Given the description of an element on the screen output the (x, y) to click on. 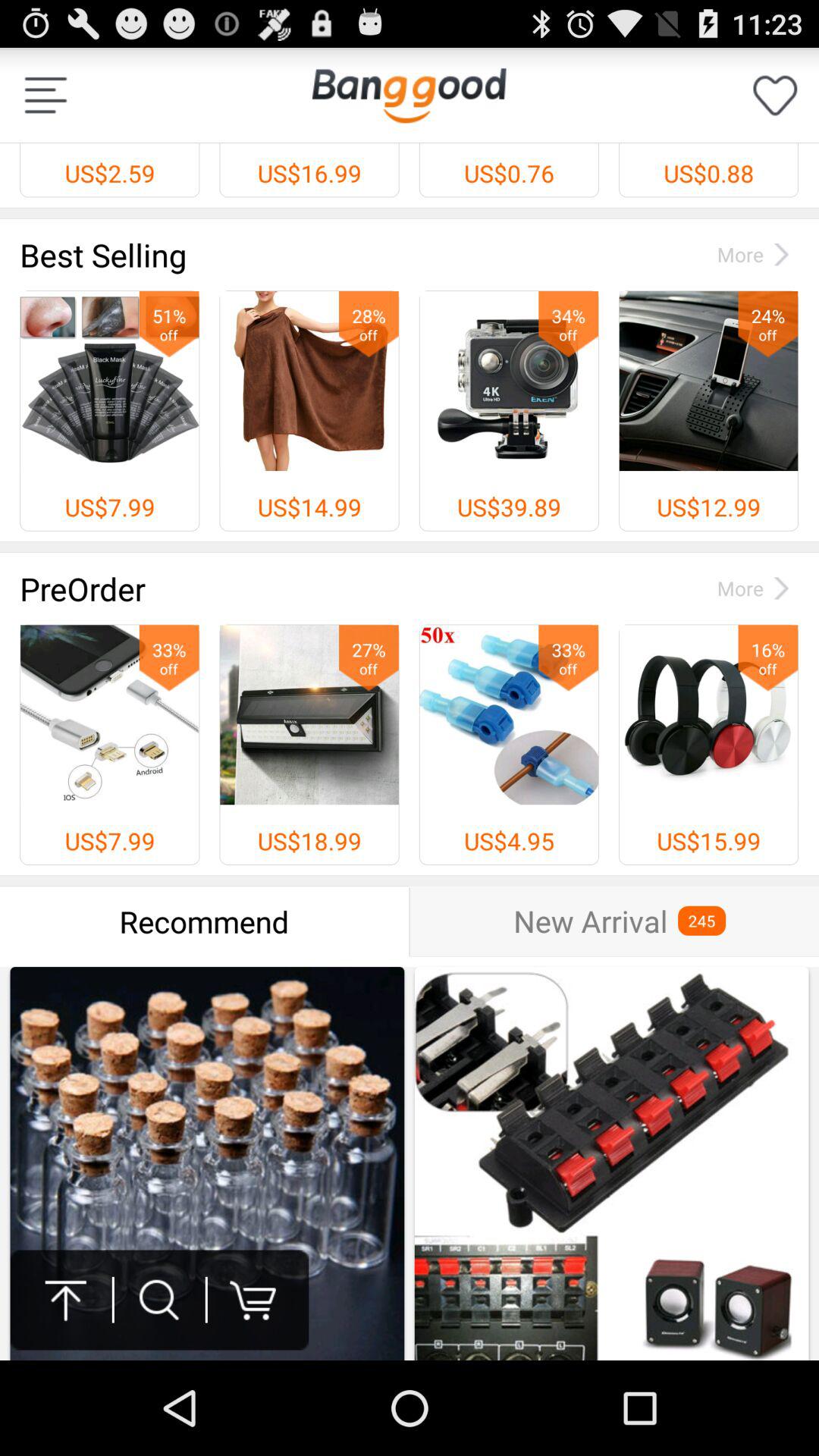
more options (45, 95)
